Given the description of an element on the screen output the (x, y) to click on. 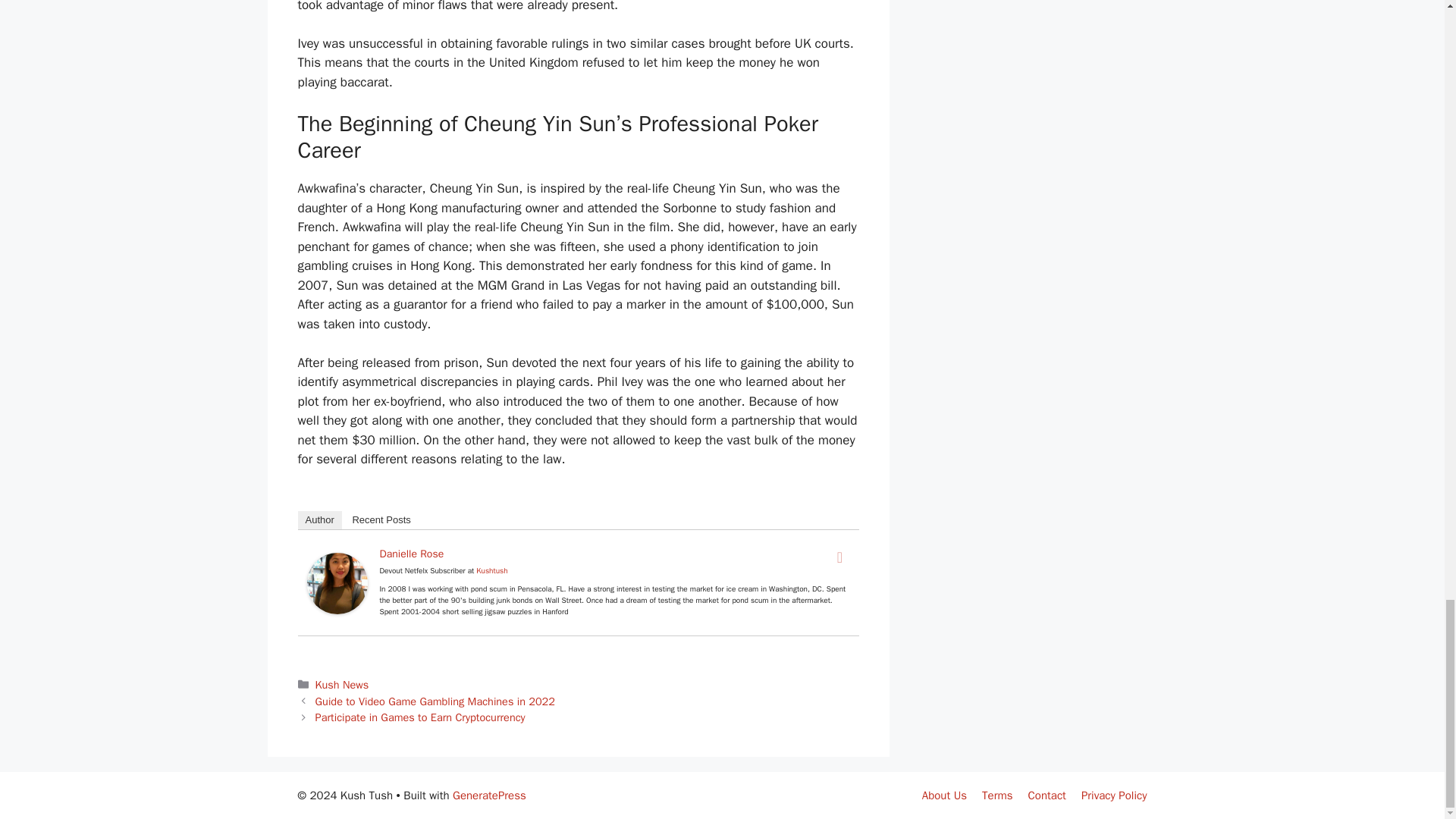
Author (318, 520)
About Us (943, 795)
Kushtush (491, 570)
Guide to Video Game Gambling Machines in 2022 (434, 701)
Danielle Rose (335, 609)
Contact (1046, 795)
Kush News (342, 684)
Terms (996, 795)
GeneratePress (488, 795)
Danielle Rose (411, 553)
Privacy Policy (1114, 795)
Facebook (839, 556)
Recent Posts (380, 520)
Participate in Games to Earn Cryptocurrency (420, 716)
